Given the description of an element on the screen output the (x, y) to click on. 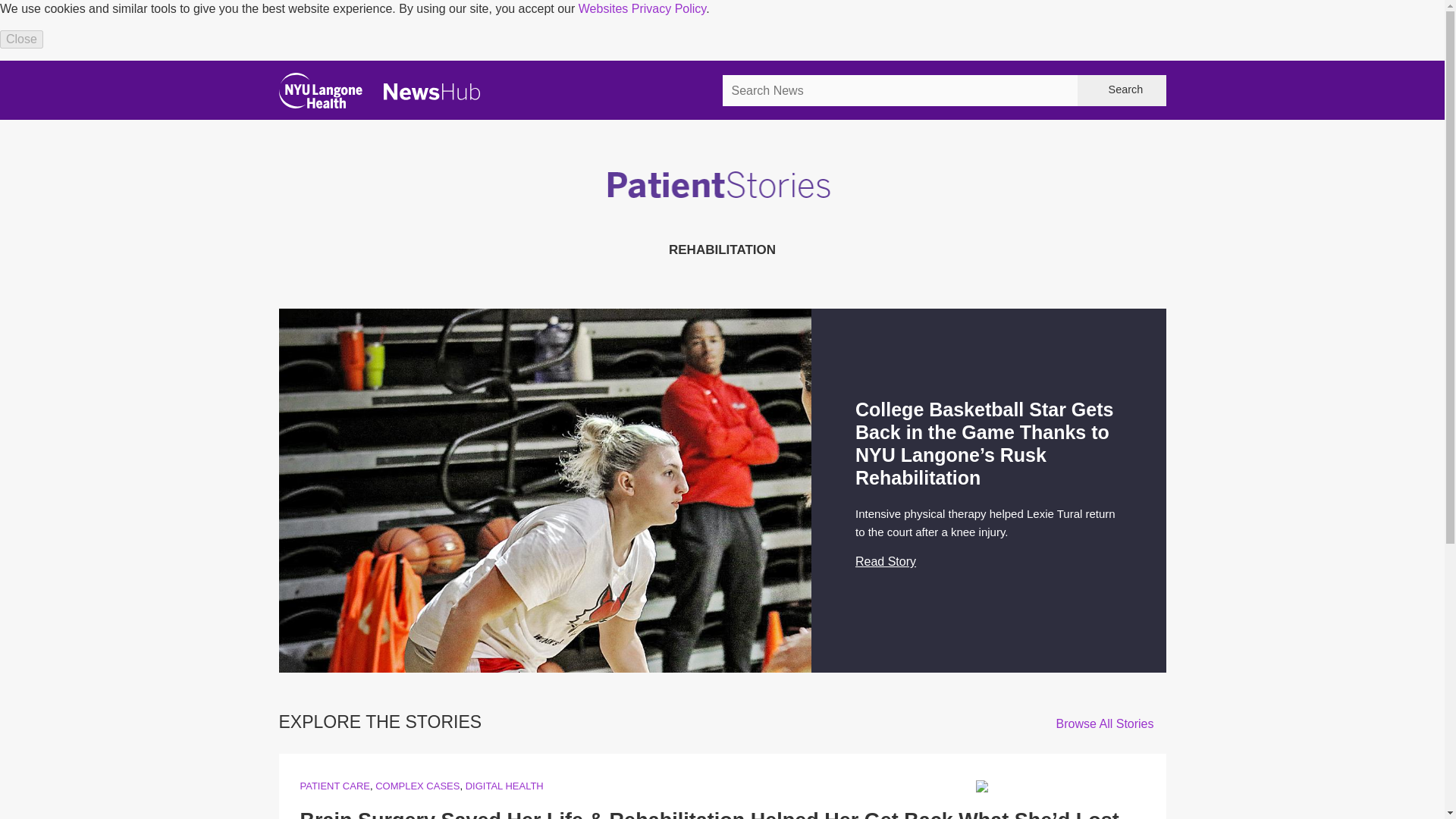
Browse All Stories (1111, 723)
COMPLEX CASES (417, 785)
PATIENT CARE (334, 785)
DIGITAL HEALTH (504, 785)
Search (1121, 91)
Patient Stories (721, 205)
Close (21, 39)
Enter the terms you wish to search for. (899, 91)
Search (1121, 91)
Websites Privacy Policy (642, 8)
